Given the description of an element on the screen output the (x, y) to click on. 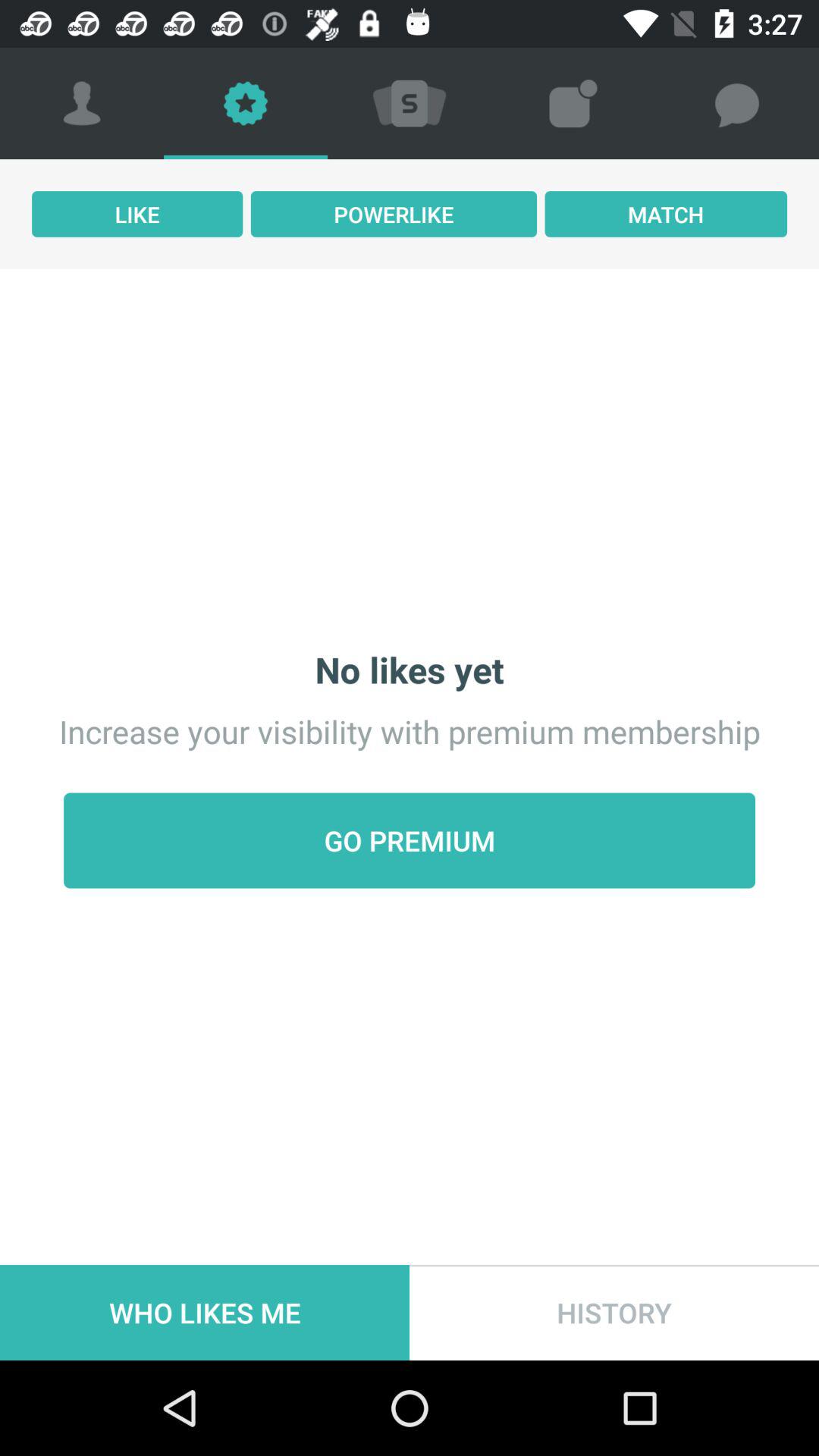
jump until the who likes me icon (204, 1312)
